Given the description of an element on the screen output the (x, y) to click on. 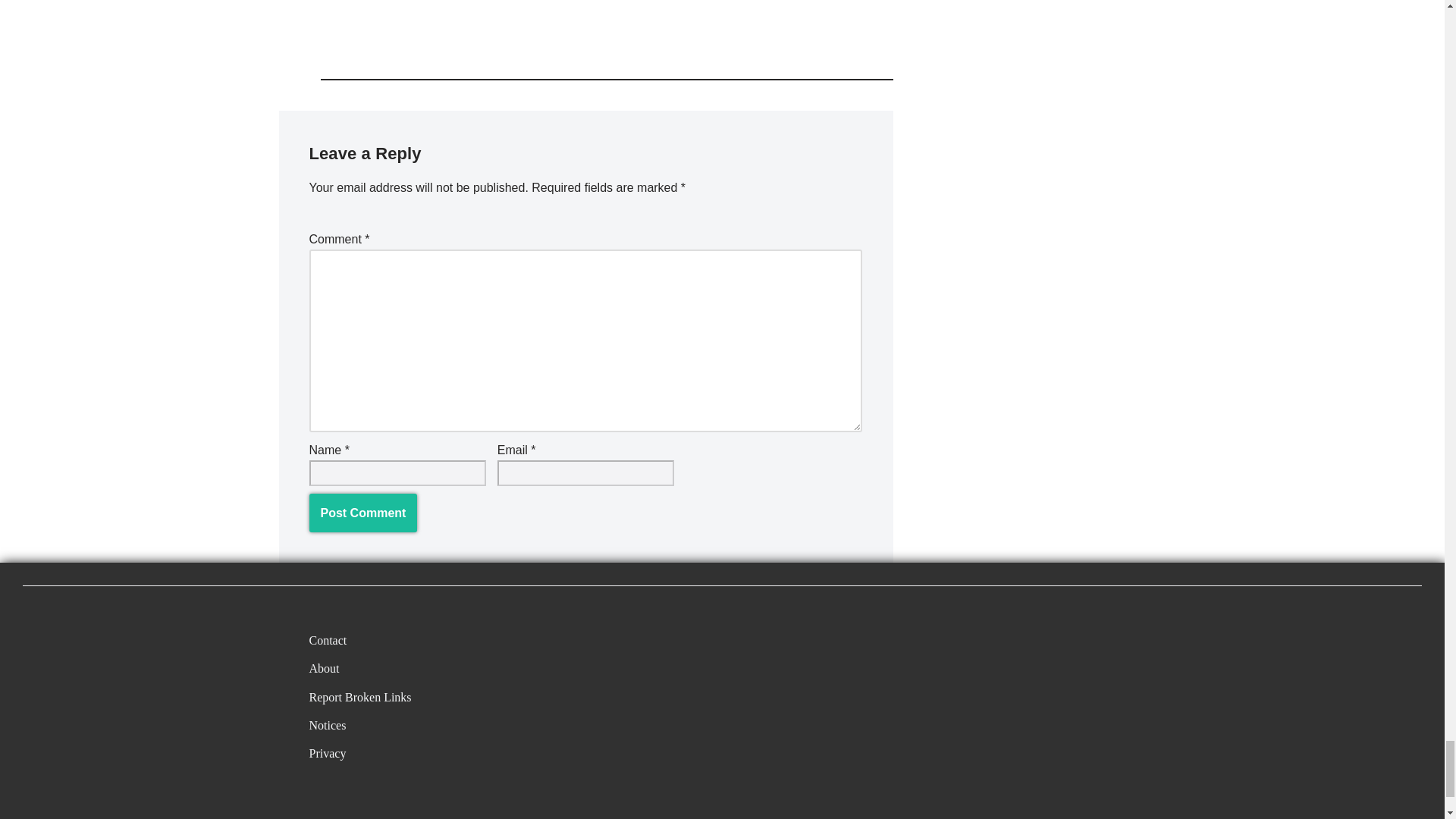
Post Comment (362, 513)
